Given the description of an element on the screen output the (x, y) to click on. 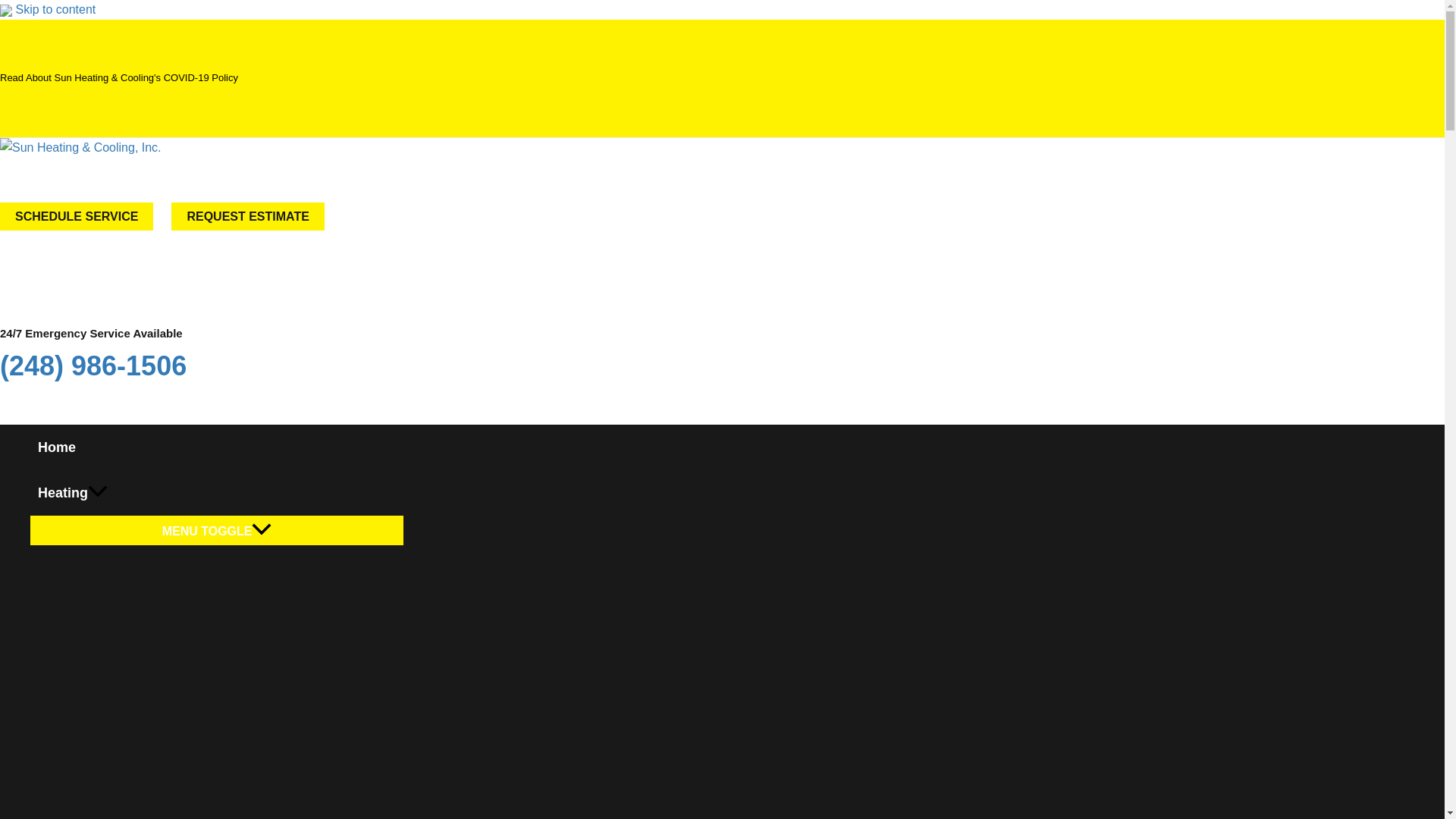
SCHEDULE SERVICE (76, 216)
Skip to content (55, 9)
Heating (216, 492)
REQUEST ESTIMATE (247, 216)
Home (216, 447)
MENU TOGGLE (216, 530)
